Given the description of an element on the screen output the (x, y) to click on. 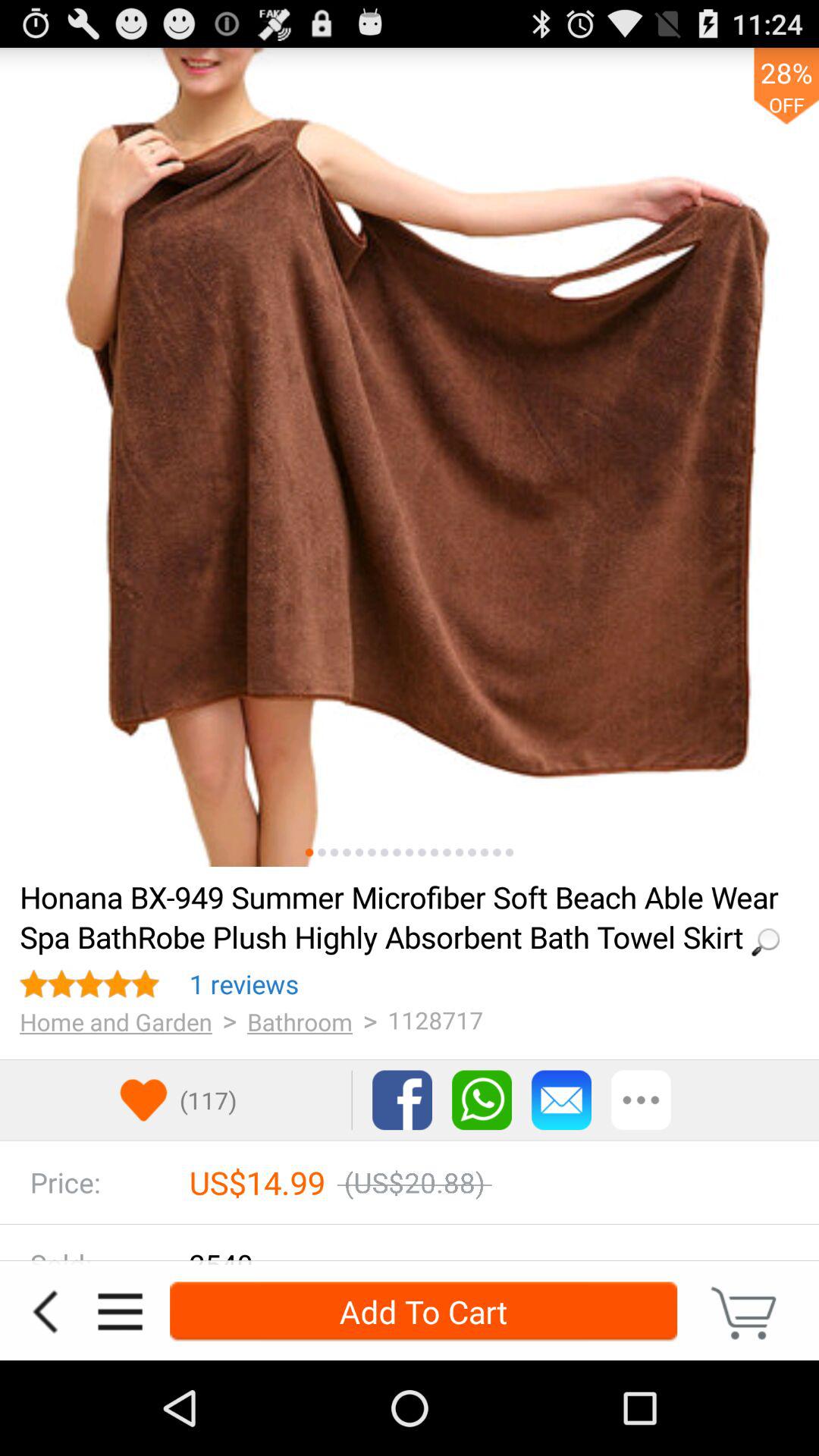
click icon above the loading... icon (384, 852)
